Given the description of an element on the screen output the (x, y) to click on. 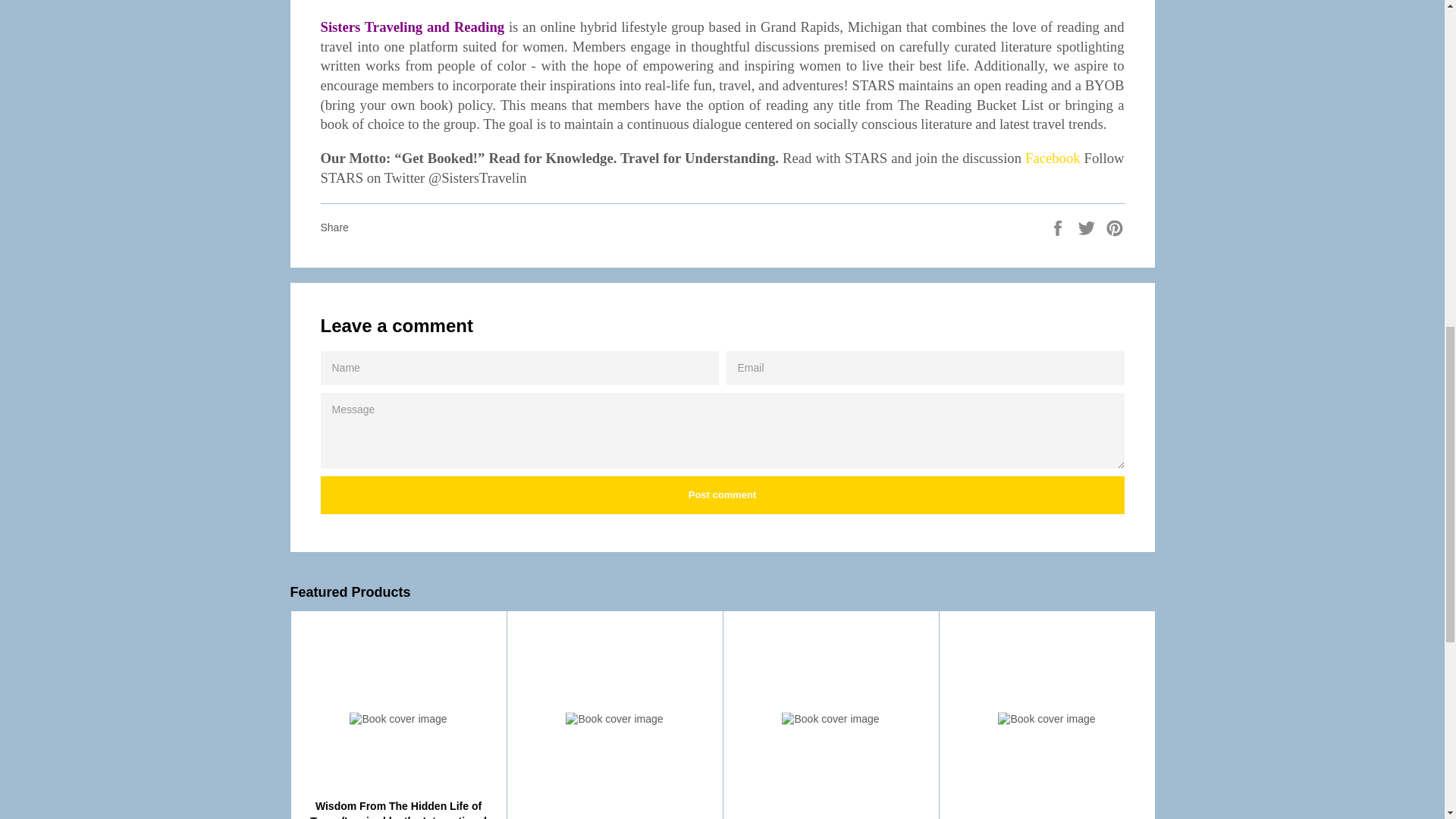
Pin on Pinterest (1114, 226)
Post comment (722, 494)
STARS! (1052, 157)
Tweet on Twitter (1088, 226)
Share on Facebook (1059, 226)
